Given the description of an element on the screen output the (x, y) to click on. 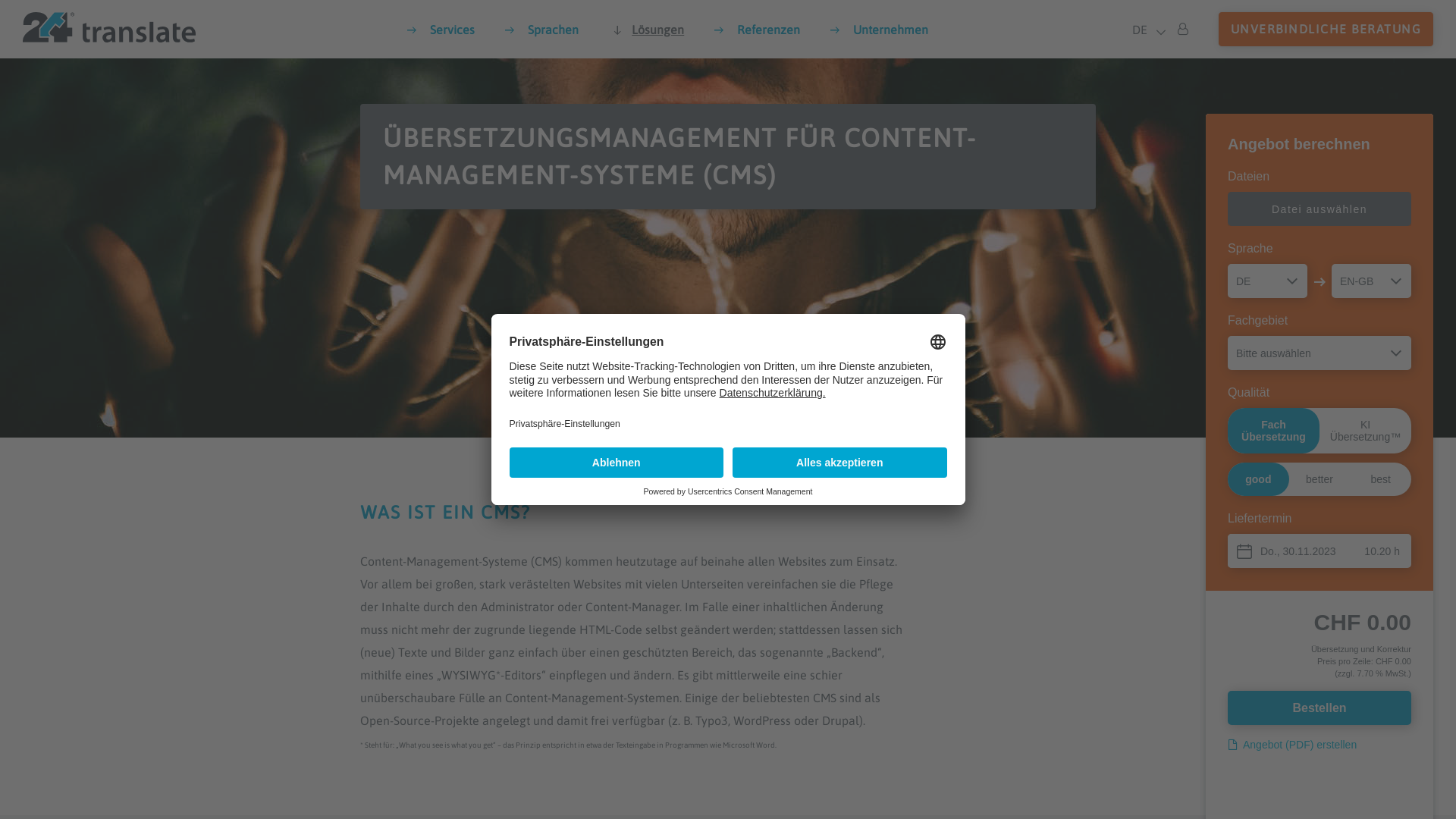
DE Element type: text (1143, 29)
UNVERBINDLICHE BERATUNG Element type: text (1325, 29)
Referenzen Element type: text (757, 29)
Sprachen Element type: text (541, 29)
Unternehmen Element type: text (879, 29)
Services Element type: text (440, 29)
